Given the description of an element on the screen output the (x, y) to click on. 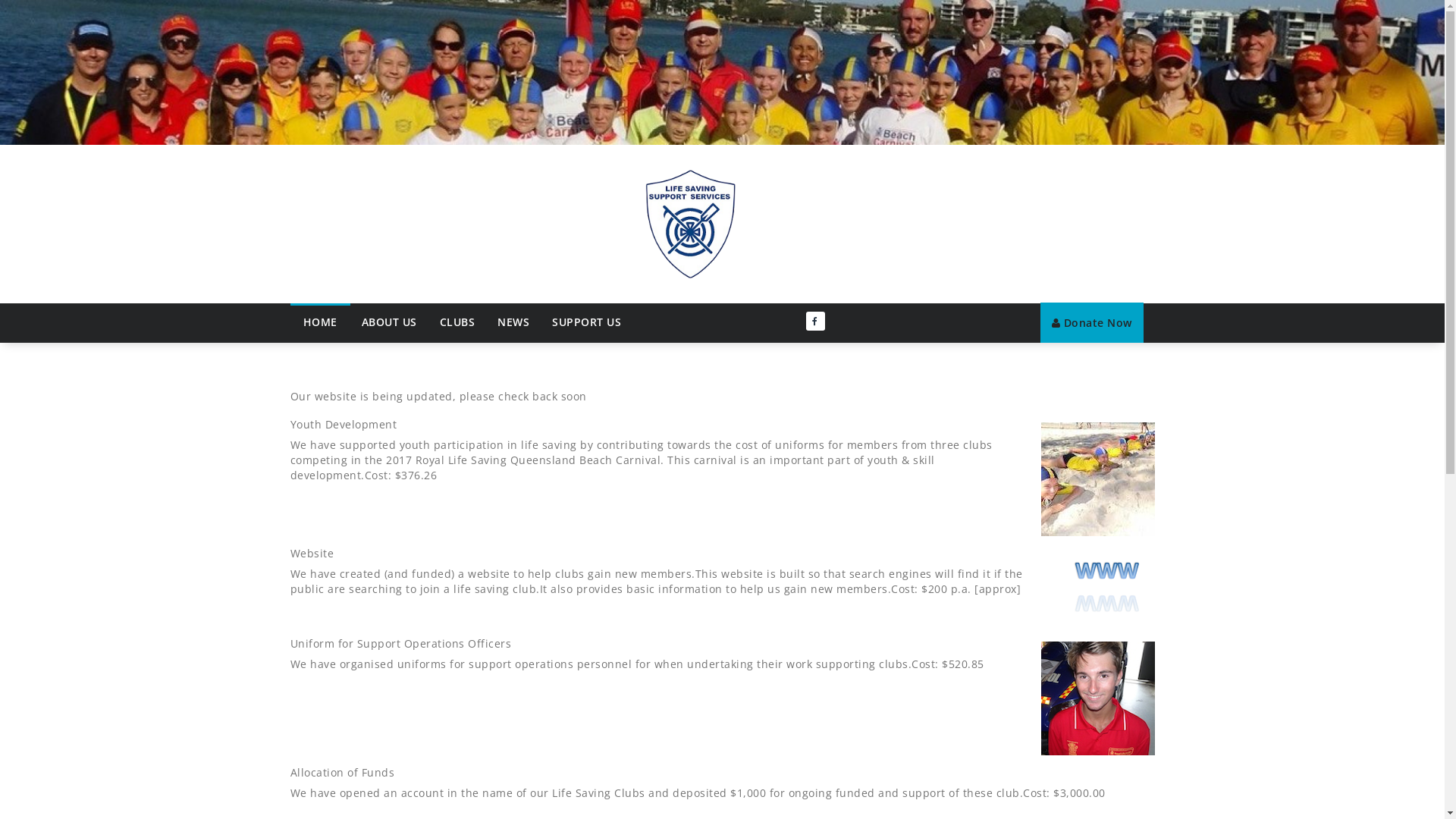
Uniform for Support Operations Officers Element type: text (400, 643)
ABOUT US Element type: text (389, 322)
Allocation of Funds Element type: text (341, 772)
HOME Element type: text (319, 320)
Website Element type: text (311, 553)
SUPPORT US Element type: text (586, 322)
CLUBS Element type: text (456, 322)
Youth Development Element type: text (342, 424)
Donate Now Element type: text (1091, 322)
NEWS Element type: text (513, 322)
